Given the description of an element on the screen output the (x, y) to click on. 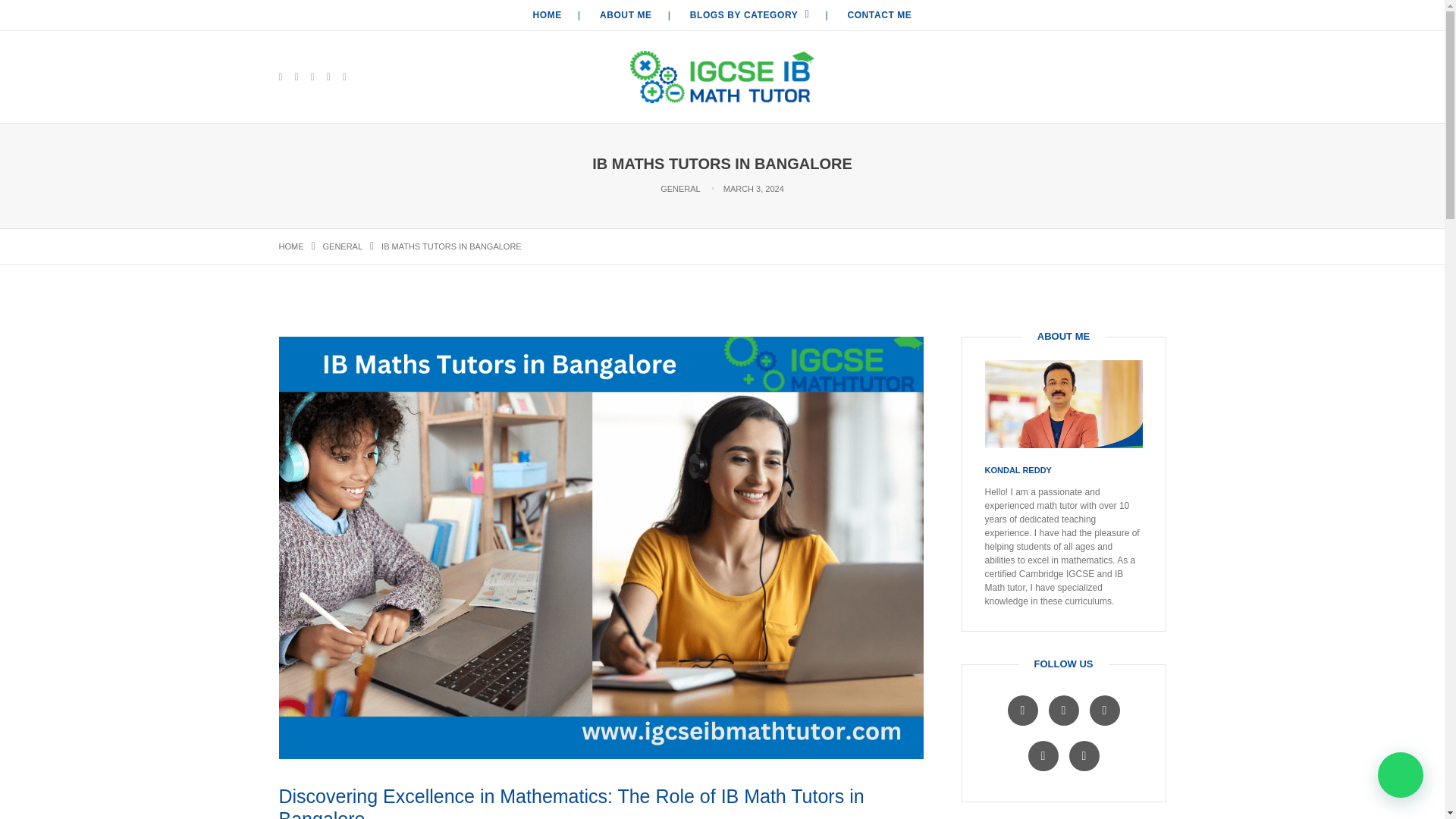
ABOUT ME (625, 15)
BLOGS BY CATEGORY (749, 15)
HOME (291, 245)
Browse to: Home (291, 245)
General (342, 245)
GENERAL (680, 188)
KONDAL REDDY (1017, 470)
CONTACT ME (879, 15)
GENERAL (342, 245)
HOME (546, 15)
